Given the description of an element on the screen output the (x, y) to click on. 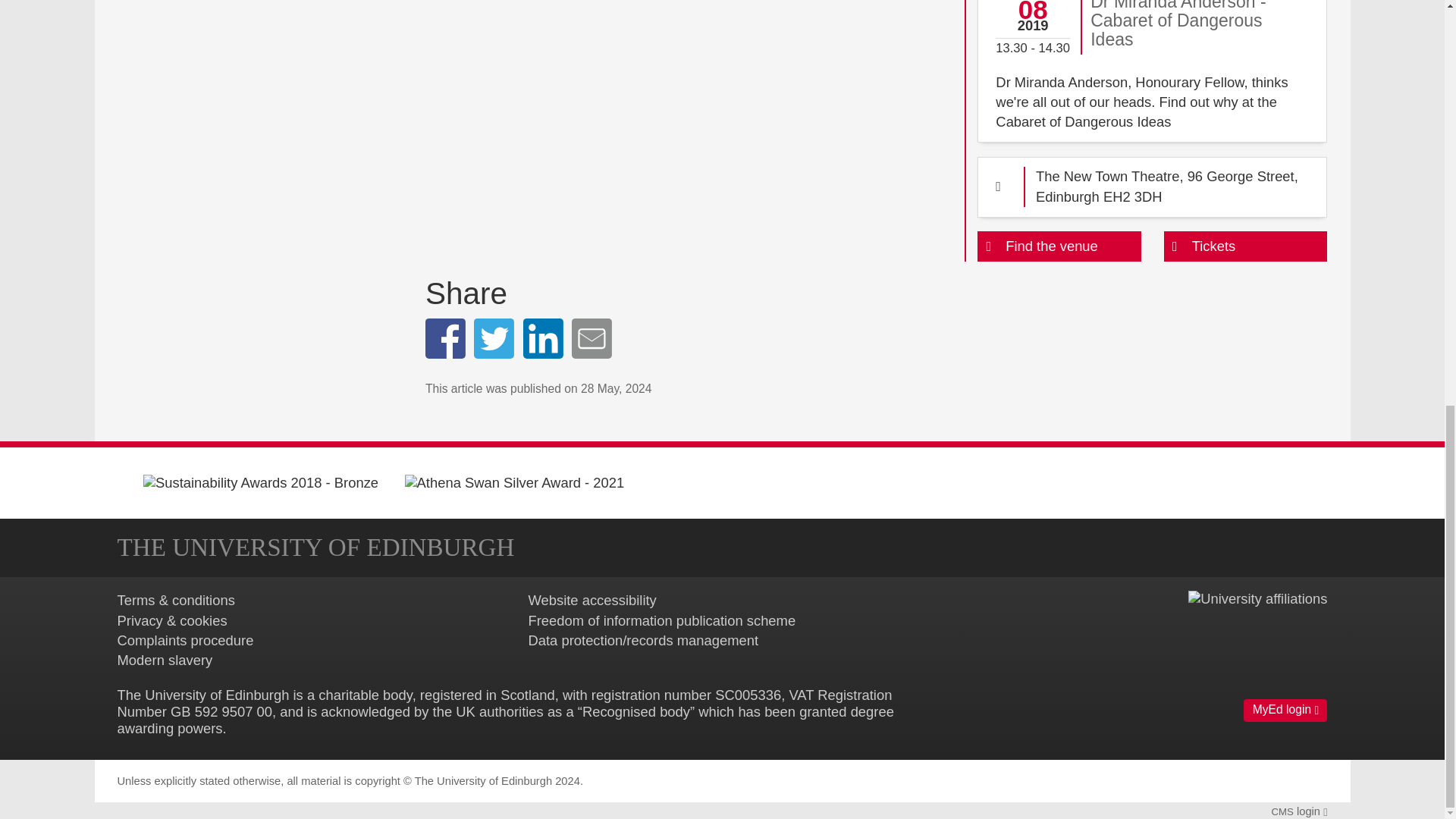
Find the venue (1058, 245)
MyEd login (1284, 710)
Tickets (1245, 245)
Recognised body (636, 711)
Complaints procedure (184, 640)
CMS login (1298, 811)
Freedom of information publication scheme (660, 620)
Modern slavery (164, 659)
Website accessibility (591, 600)
